Given the description of an element on the screen output the (x, y) to click on. 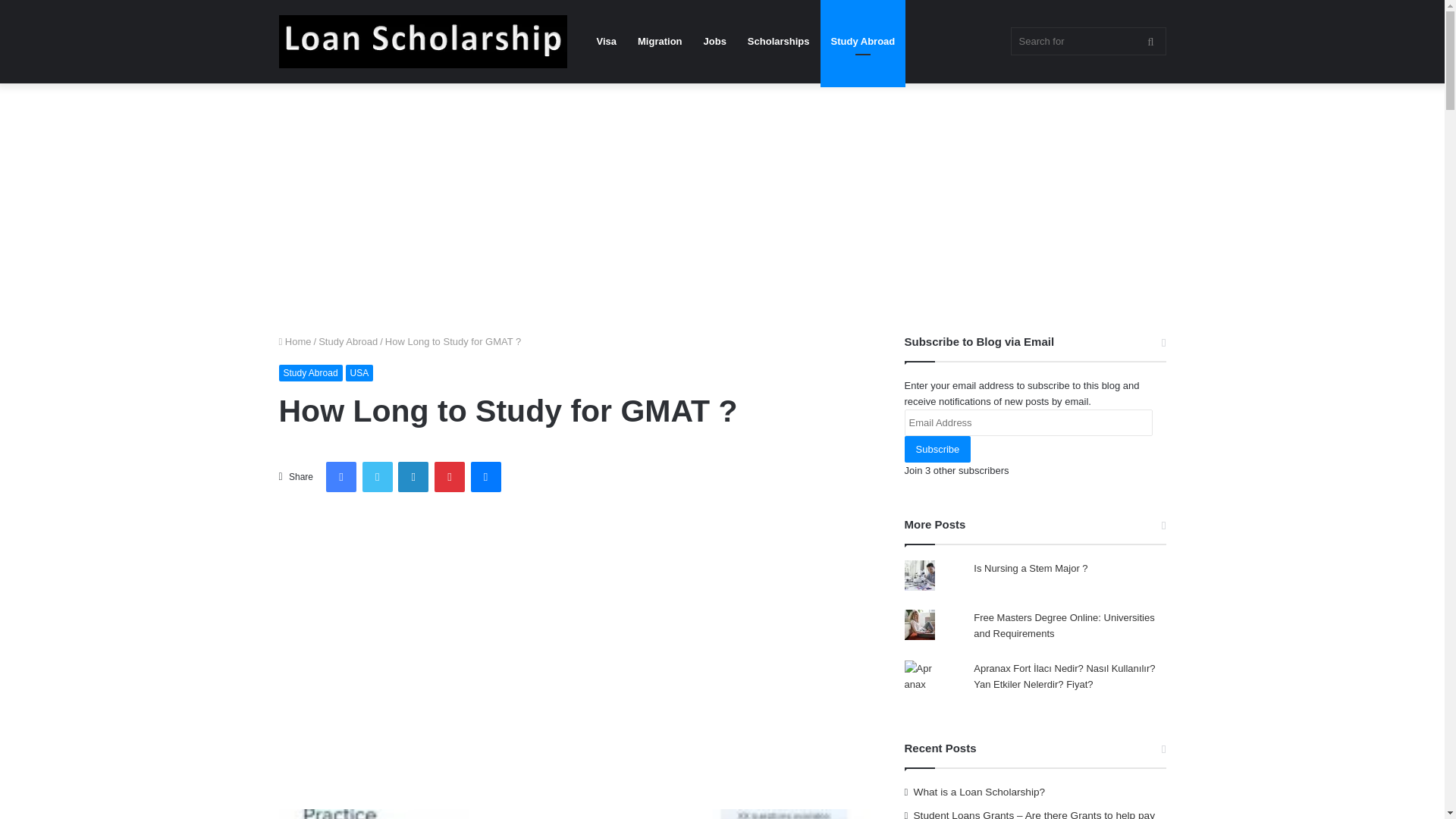
Twitter (377, 476)
LinkedIn (412, 476)
Pinterest (448, 476)
Search for (1088, 41)
LinkedIn (412, 476)
Pinterest (448, 476)
Home (295, 341)
Facebook (341, 476)
USA (360, 372)
Study Abroad (310, 372)
Study Abroad (863, 41)
Advertisement (574, 619)
Scholarships (778, 41)
Loan Scholarship (423, 41)
